Given the description of an element on the screen output the (x, y) to click on. 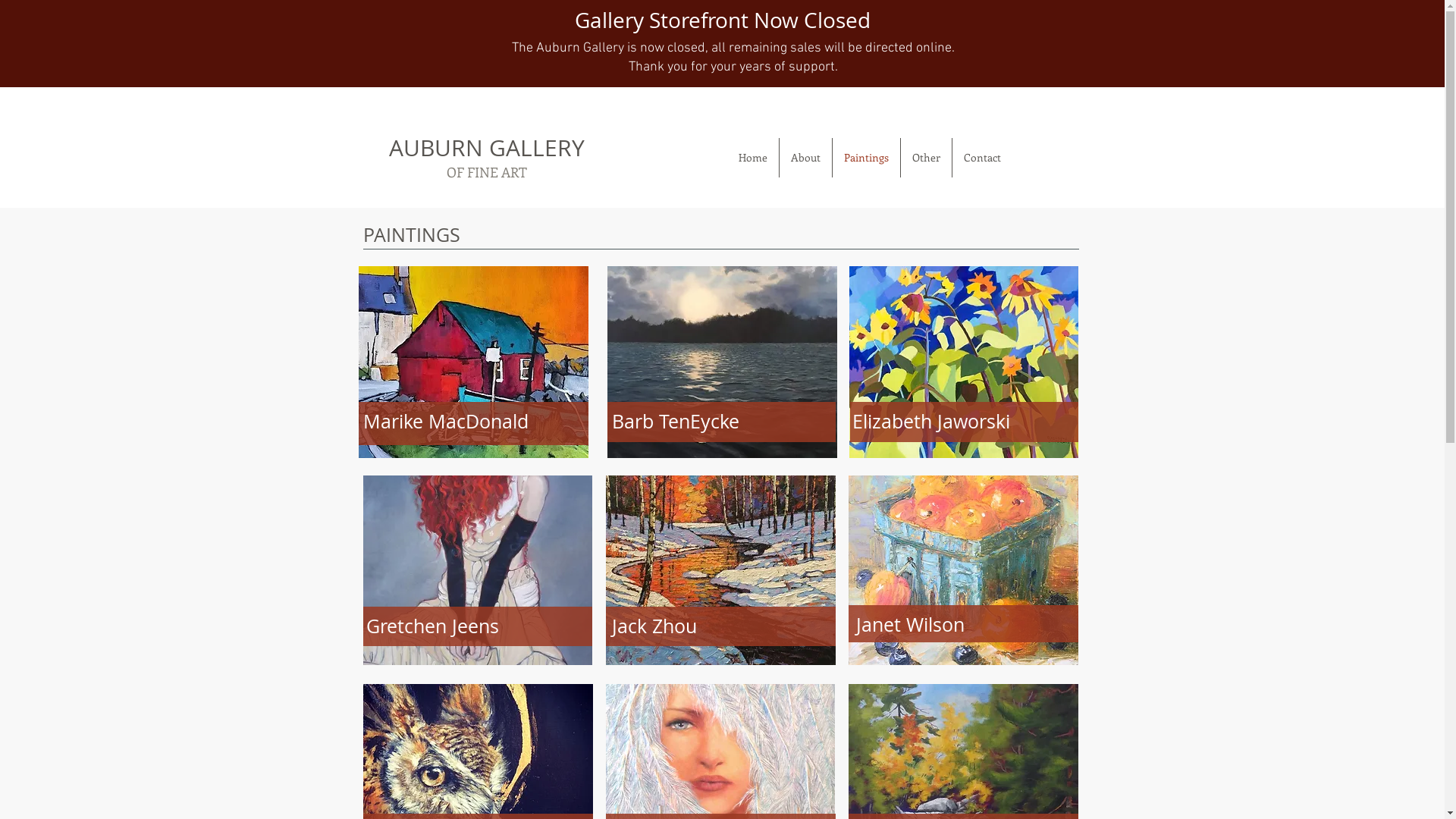
Amanda Greavette Element type: hover (472, 362)
Marike MacDonald Element type: text (444, 423)
Jack Zhou Element type: text (653, 628)
16-36x48in.jpg Element type: hover (719, 570)
Gretchen Jeens Element type: text (431, 628)
Elizabeth Jaworski  Element type: hover (963, 362)
OF FINE ART Element type: text (486, 172)
Other Element type: text (925, 157)
Barb TenEycke Element type: hover (721, 362)
Janet Wilson Element type: hover (962, 570)
Home Element type: text (752, 157)
Paintings Element type: text (866, 157)
Gretchen Jeens Element type: hover (476, 570)
About Element type: text (805, 157)
AUBURN GALLERY Element type: text (486, 147)
Barb TenEycke Element type: text (674, 423)
Contact Element type: text (982, 157)
Elizabeth Jaworski Element type: text (931, 423)
Janet Wilson Element type: text (909, 626)
